Given the description of an element on the screen output the (x, y) to click on. 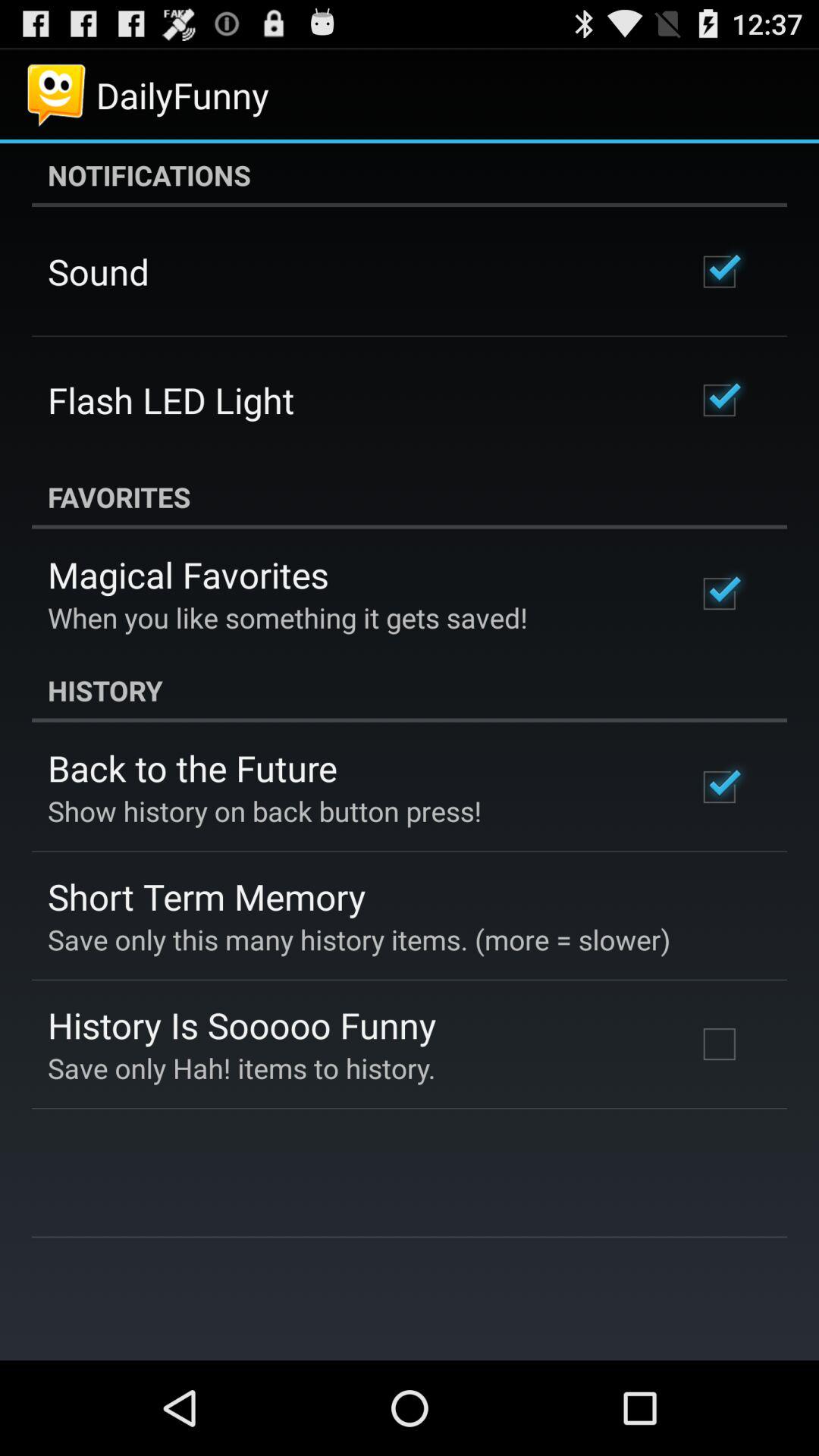
turn off history is sooooo (241, 1025)
